Given the description of an element on the screen output the (x, y) to click on. 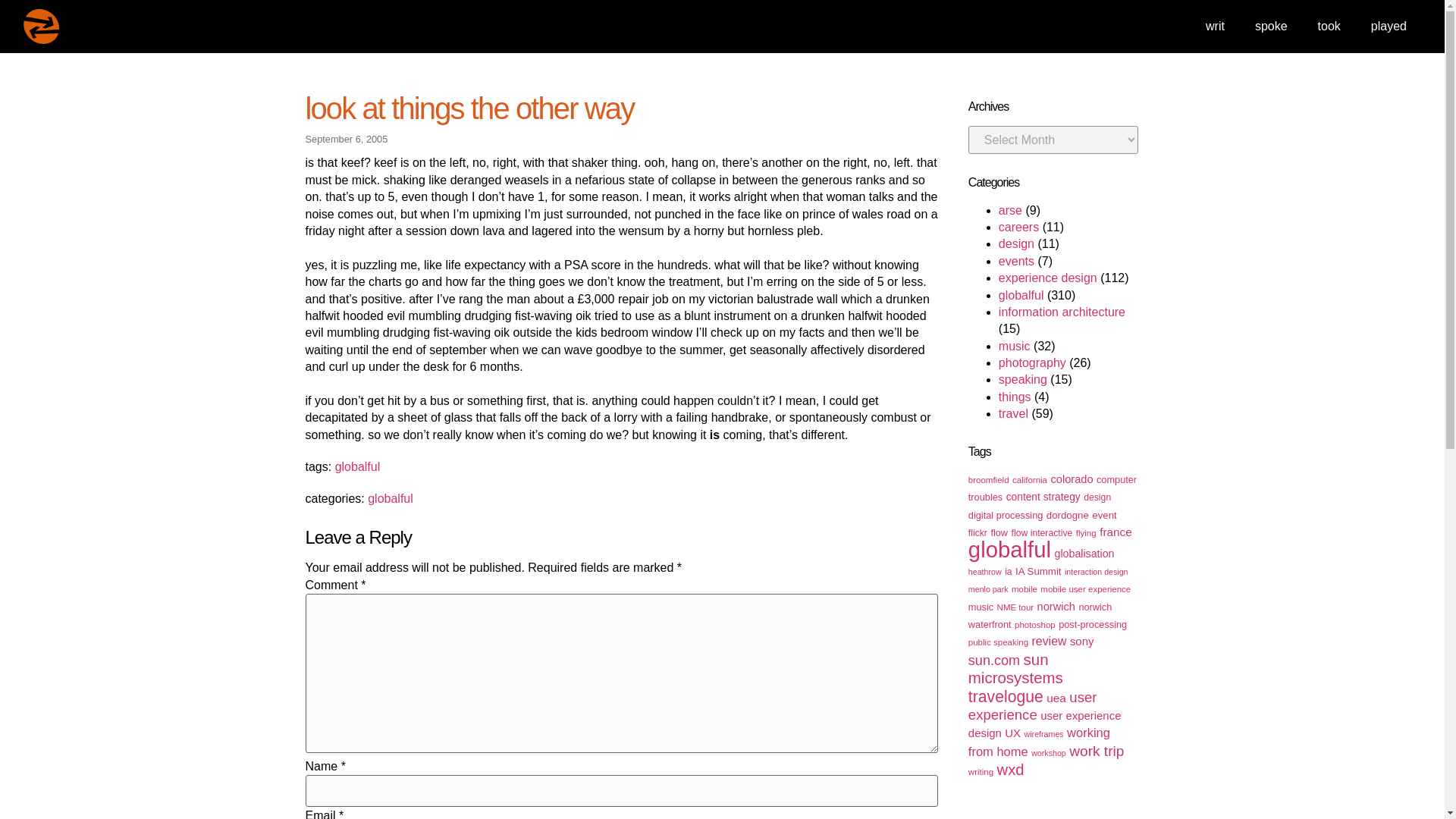
information architecture (1061, 311)
events (1015, 260)
broomfield (988, 479)
music (1014, 345)
things (1014, 396)
design (1015, 243)
spoke (1271, 26)
computer troubles (1052, 488)
flickr (977, 532)
